Given the description of an element on the screen output the (x, y) to click on. 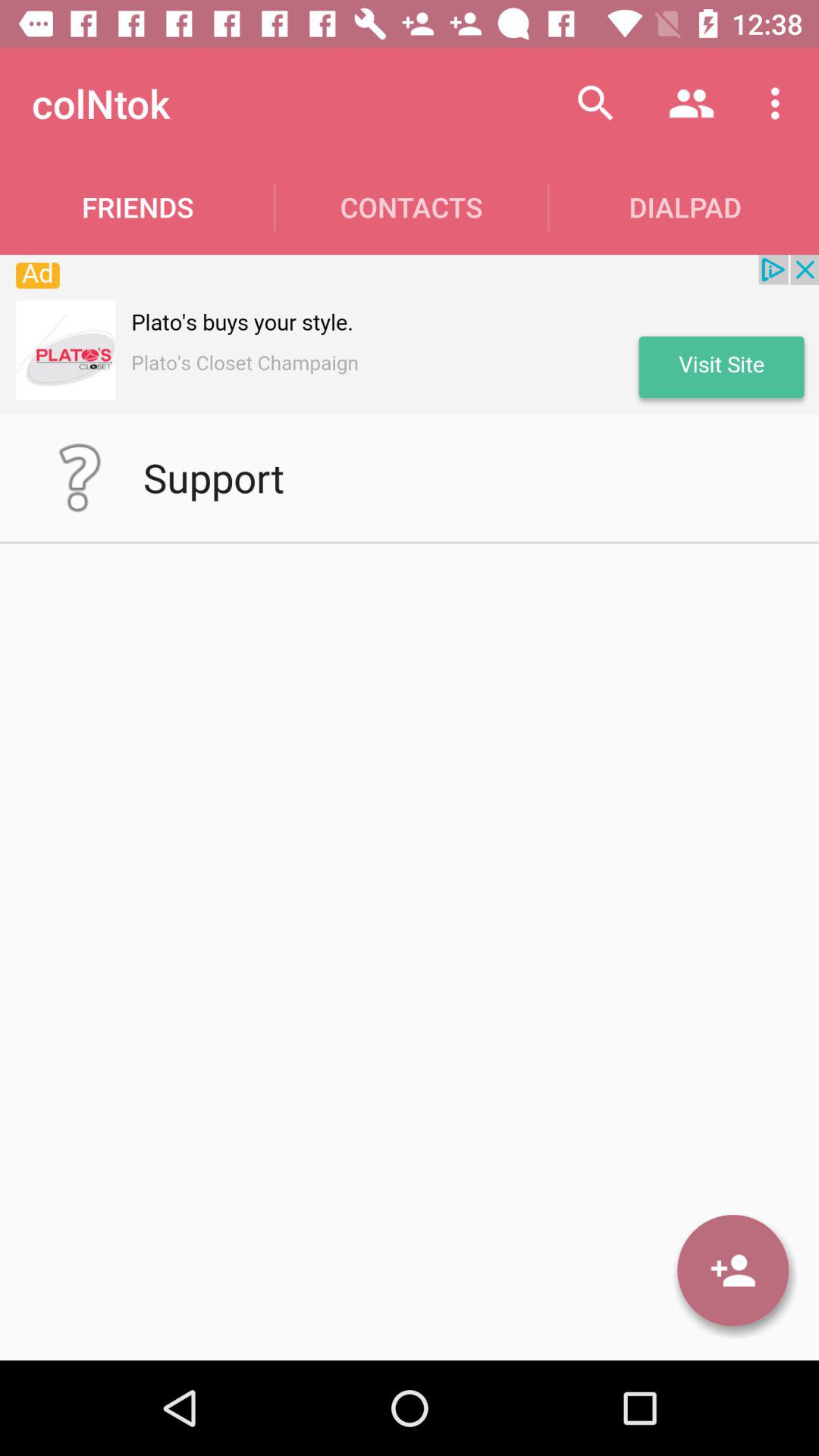
view the advertisement at top (409, 334)
